Given the description of an element on the screen output the (x, y) to click on. 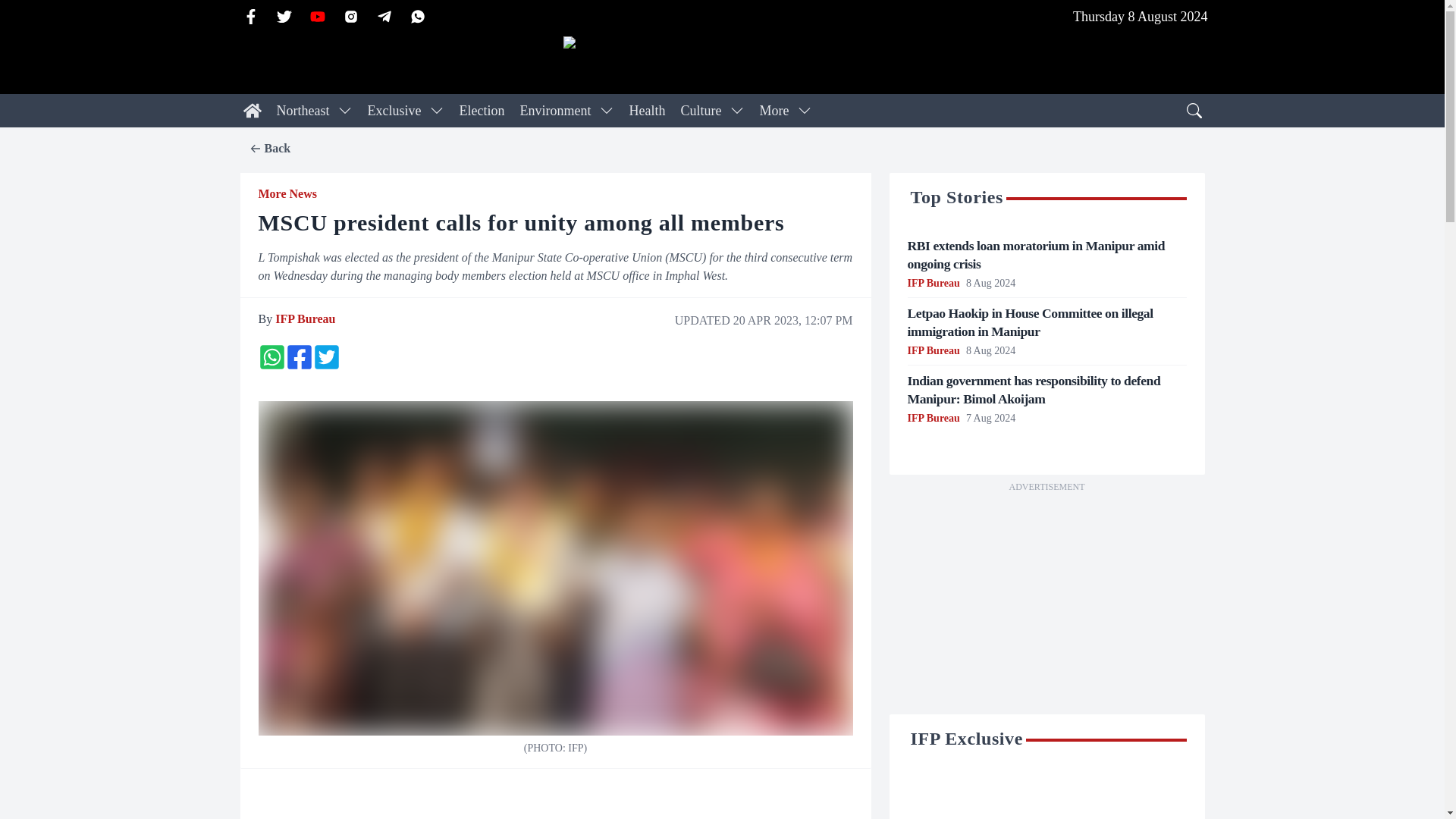
Back (268, 148)
Health (647, 110)
Northeast (301, 110)
Advertisement (1046, 602)
Environment (554, 110)
Exclusive (393, 110)
More (773, 110)
Election (481, 110)
Culture (700, 110)
